Given the description of an element on the screen output the (x, y) to click on. 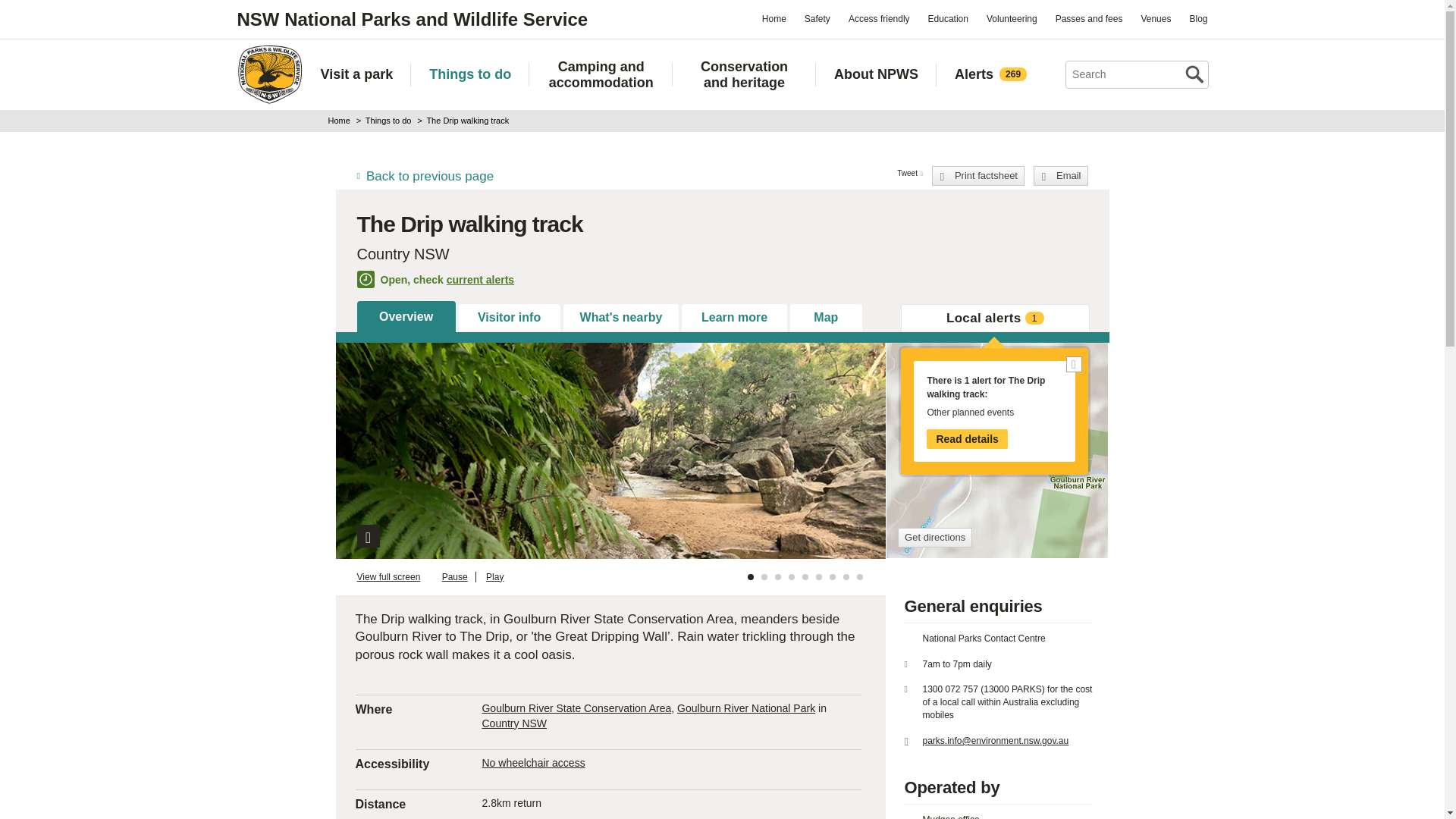
Visit a park (356, 73)
Volunteering (1011, 18)
Print-friendly version of these webpages (978, 175)
Home (268, 74)
View slide 5 (805, 576)
View slide 3 (777, 576)
View slide 7 (832, 576)
Things to do (470, 73)
Safety (816, 18)
View slide 9 (860, 576)
